Given the description of an element on the screen output the (x, y) to click on. 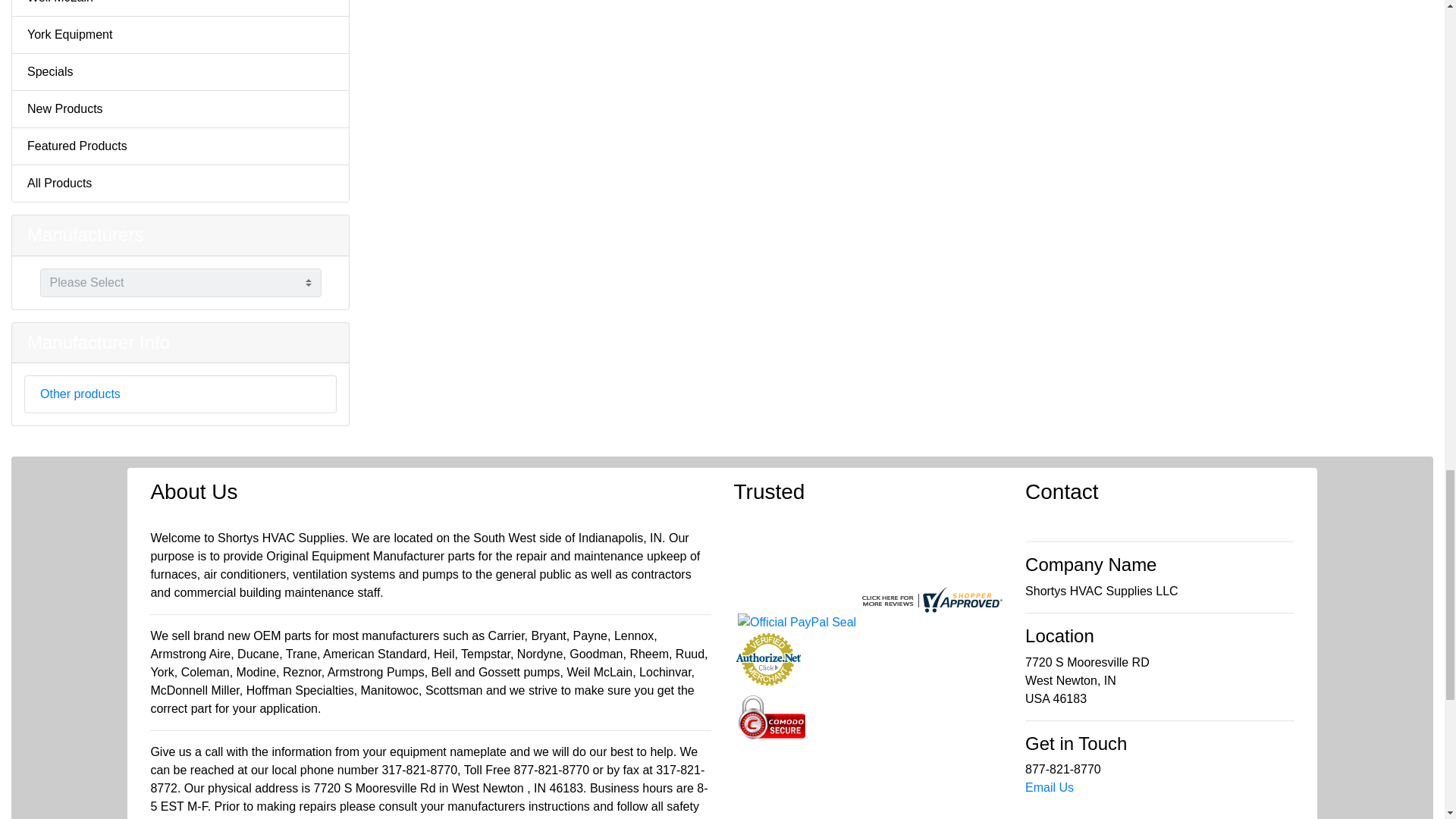
Click to email us (1049, 787)
